Given the description of an element on the screen output the (x, y) to click on. 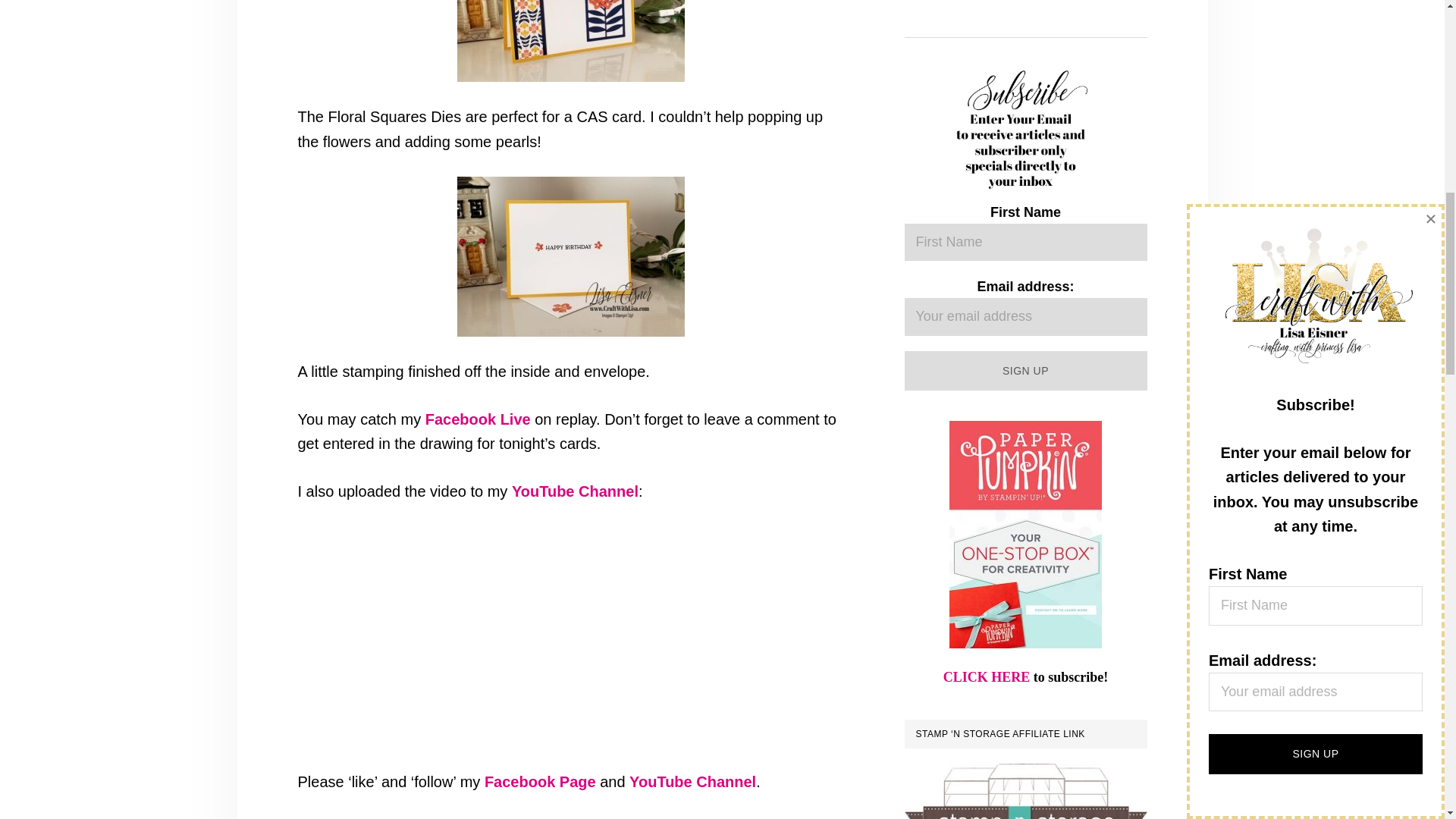
Facebook Live (478, 419)
YouTube Channel (691, 781)
Sign up (1025, 371)
YouTube Channel (575, 491)
What's Crafting Wednesday Episode 53 - CAS Birthday Card (487, 632)
Facebook Page (539, 781)
